Given the description of an element on the screen output the (x, y) to click on. 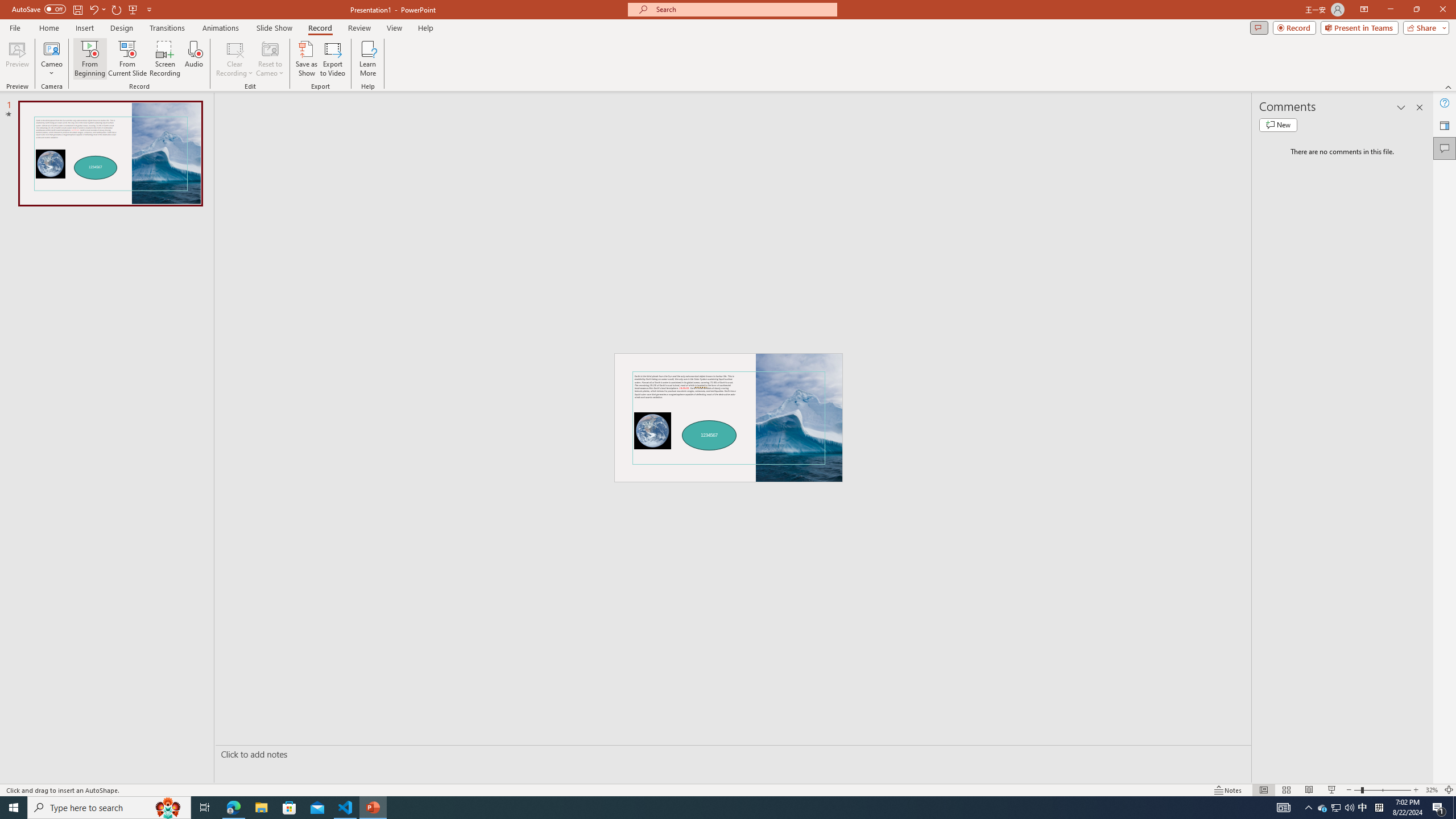
From Current Slide... (127, 58)
Save as Show (306, 58)
Clear Recording (234, 58)
Export to Video (332, 58)
Feedback to Microsoft (1444, 125)
